Given the description of an element on the screen output the (x, y) to click on. 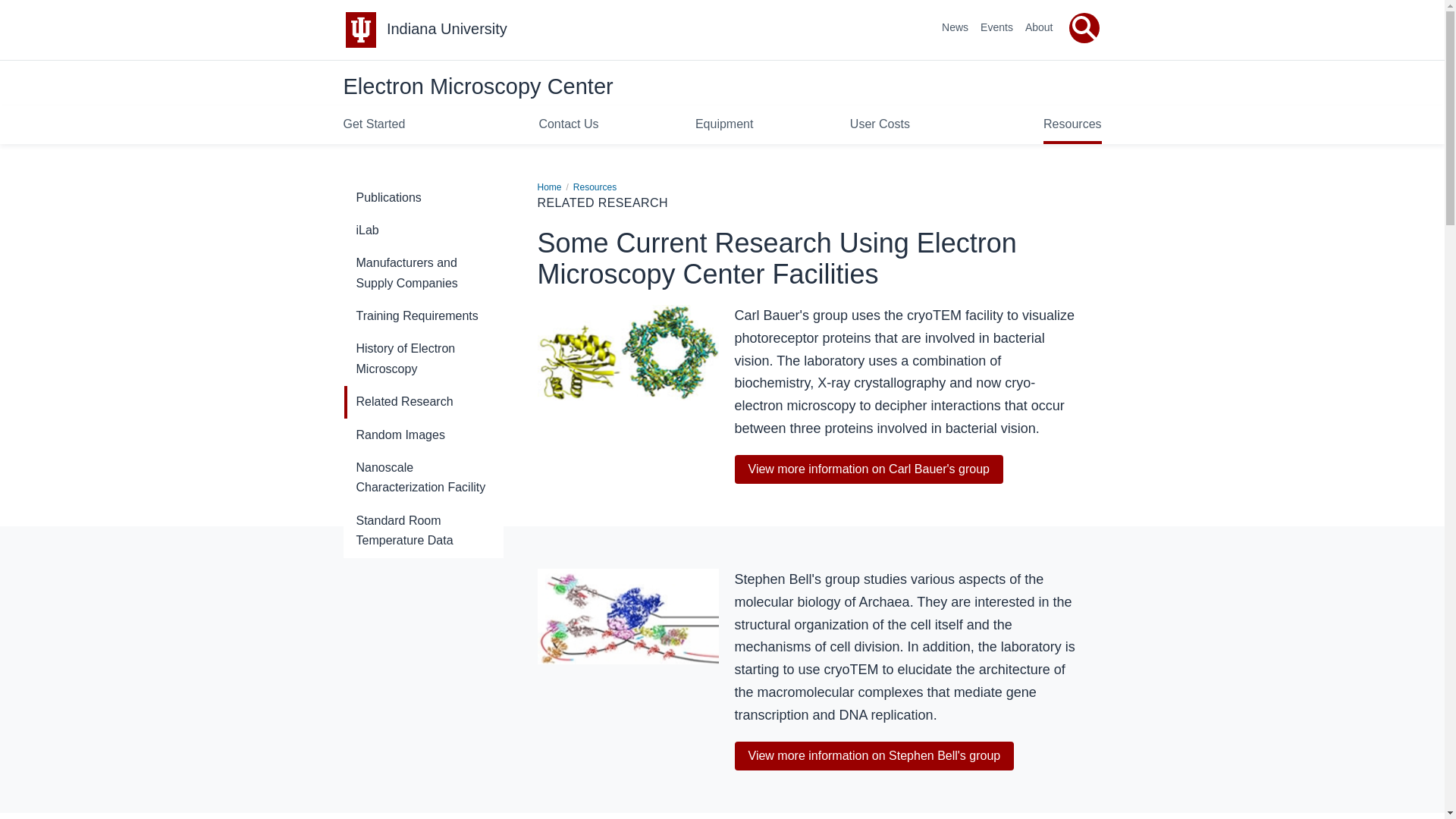
Indiana University (446, 28)
Indiana University (446, 28)
